Given the description of an element on the screen output the (x, y) to click on. 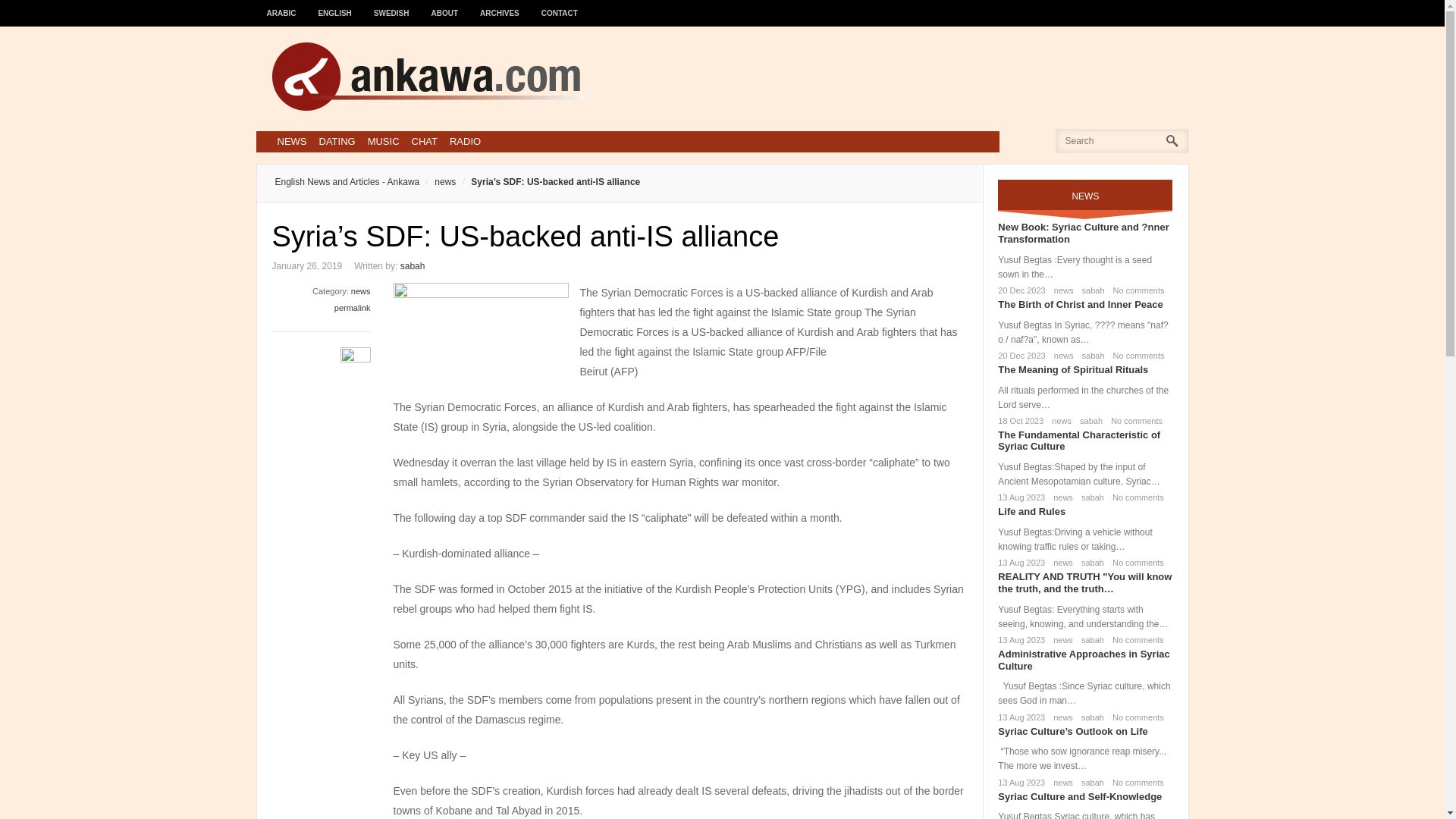
No comments (1134, 497)
news (1059, 562)
news (1061, 355)
sabah (1089, 497)
View all posts by sabah (412, 266)
MUSIC (383, 141)
news (1061, 289)
sabah (1089, 562)
New Book: Syriac Culture and ?nner Transformation (1083, 232)
news (1059, 497)
The Meaning of Spiritual Rituals (1072, 369)
The Fundamental Characteristic of Syriac Culture (1078, 440)
ABOUT (445, 5)
news (360, 290)
